Given the description of an element on the screen output the (x, y) to click on. 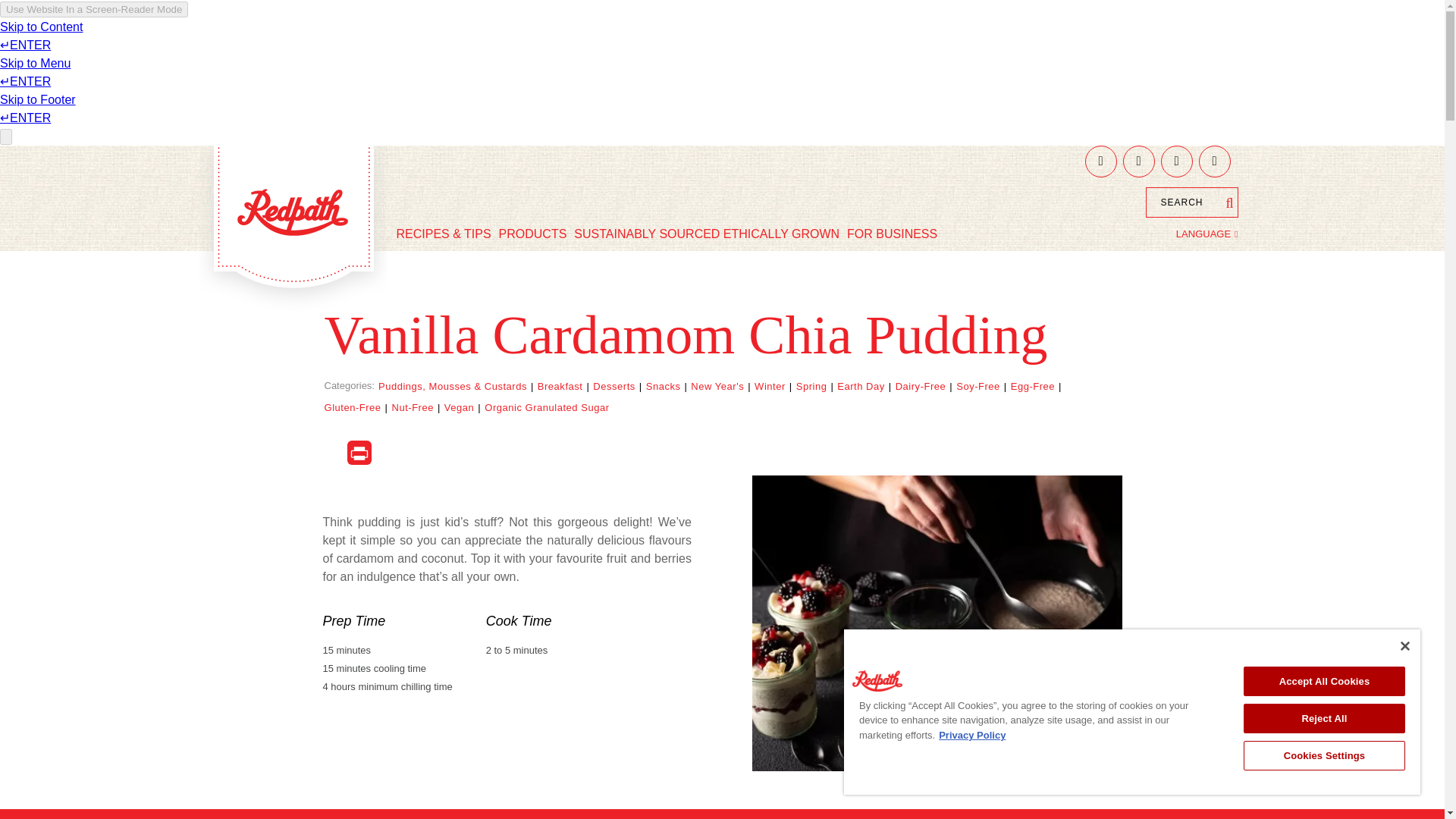
Spring (811, 386)
Soy-Free (978, 386)
Dairy-Free (920, 386)
Snacks (663, 386)
Vanilla Cardamom Chia Pudding (936, 623)
Breakfast (560, 386)
LinkedIn (1214, 161)
Organic Granulated Sugar (546, 408)
Winter (770, 386)
PRODUCTS (532, 233)
Egg-Free (1032, 386)
SUSTAINABLY SOURCED ETHICALLY GROWN (706, 233)
Vegan (459, 408)
New Year'S (717, 386)
Instagram (1176, 161)
